Given the description of an element on the screen output the (x, y) to click on. 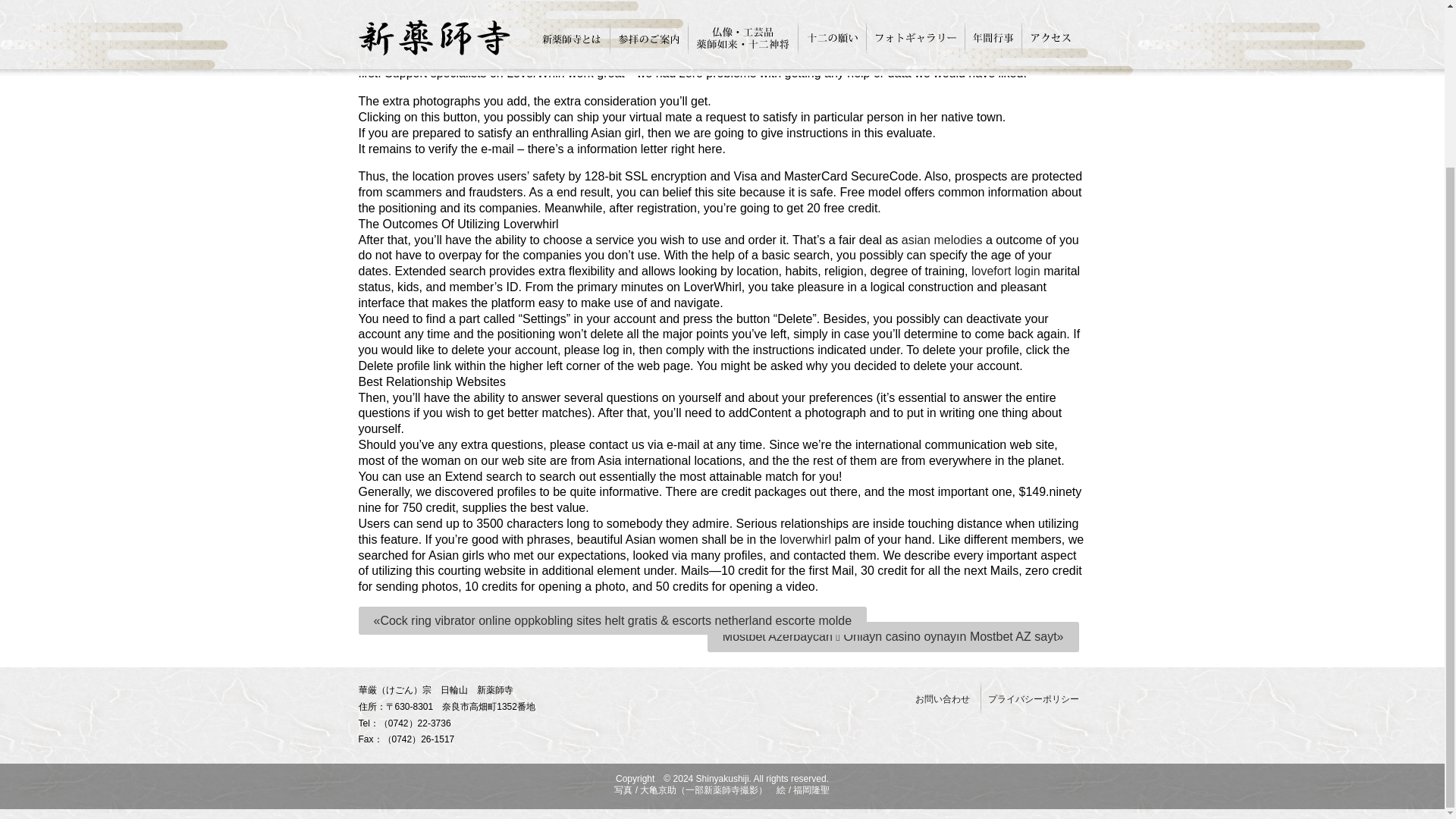
korean women (858, 57)
asian melodies (941, 239)
lovefort login (1006, 270)
loverwhirl (804, 539)
